Given the description of an element on the screen output the (x, y) to click on. 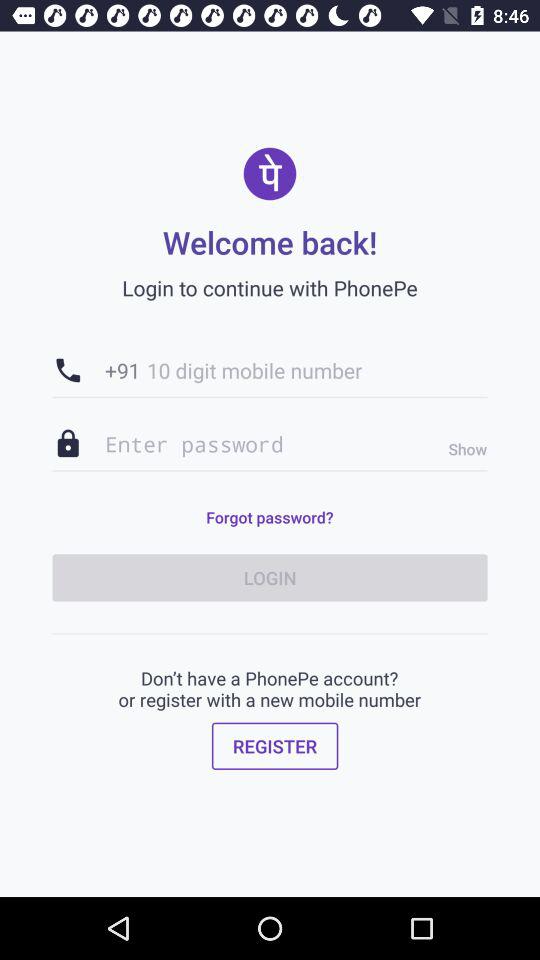
press item above login item (462, 449)
